Given the description of an element on the screen output the (x, y) to click on. 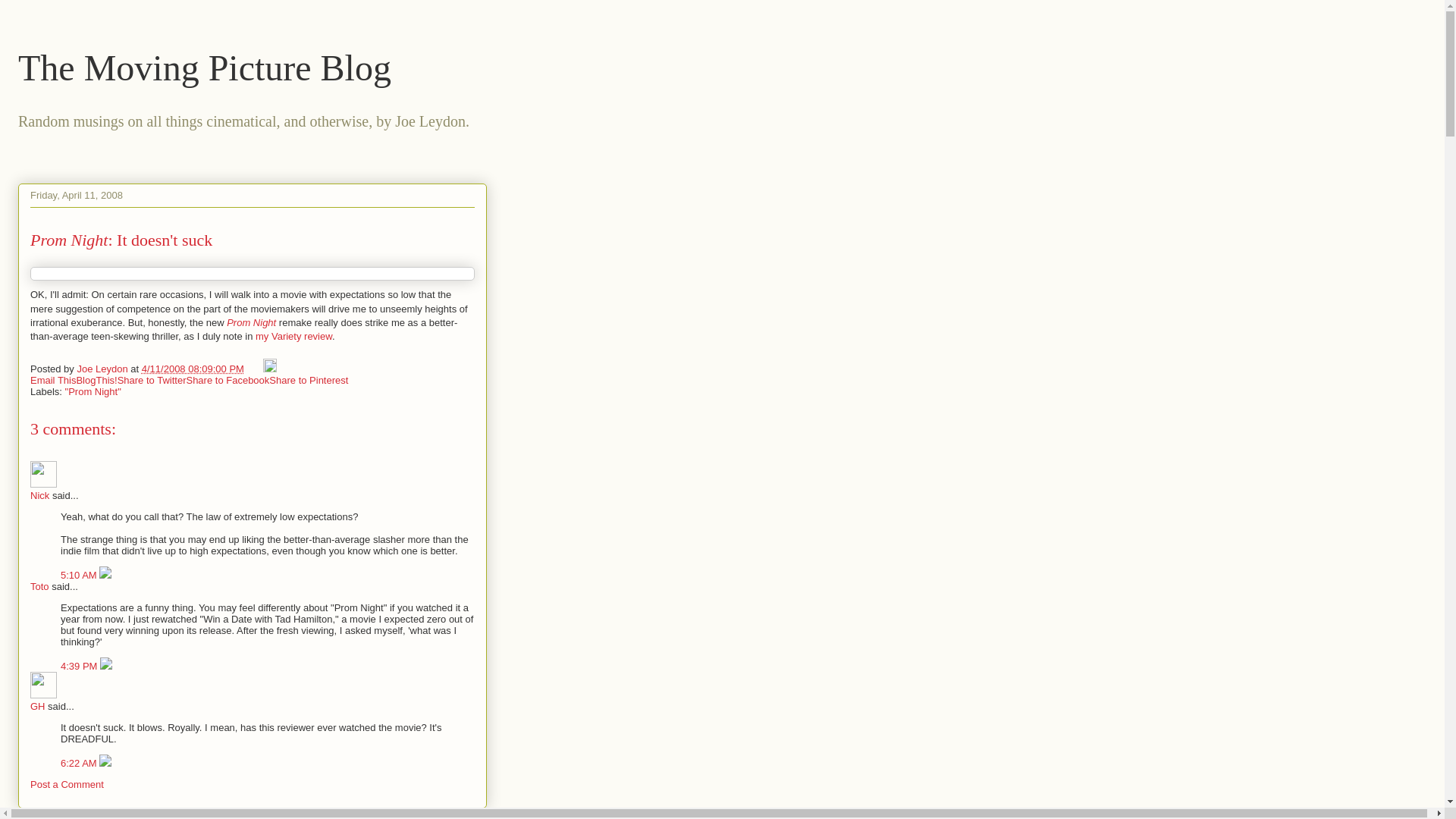
BlogThis! (95, 379)
Post a Comment (66, 784)
Delete Comment (105, 574)
Prom Night (251, 322)
The Moving Picture Blog (204, 67)
Nick (39, 495)
comment permalink (80, 665)
Delete Comment (106, 665)
Email This (52, 379)
author profile (104, 368)
Nick (43, 474)
Share to Facebook (227, 379)
Share to Pinterest (308, 379)
Share to Twitter (151, 379)
Share to Pinterest (308, 379)
